Given the description of an element on the screen output the (x, y) to click on. 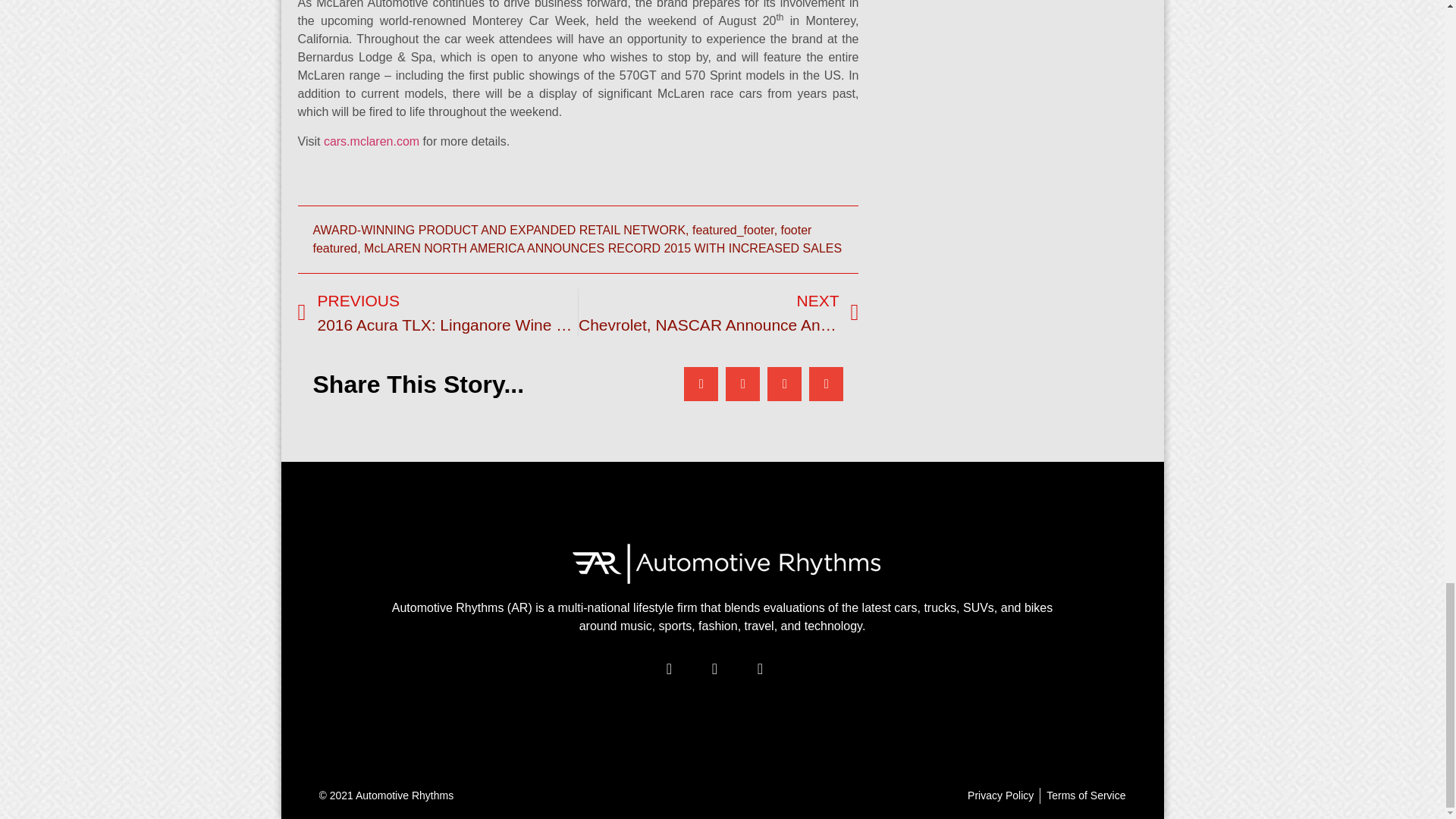
cars.mclaren.com (371, 141)
footer featured (561, 238)
AWARD-WINNING PRODUCT AND EXPANDED RETAIL NETWORK (499, 229)
